Given the description of an element on the screen output the (x, y) to click on. 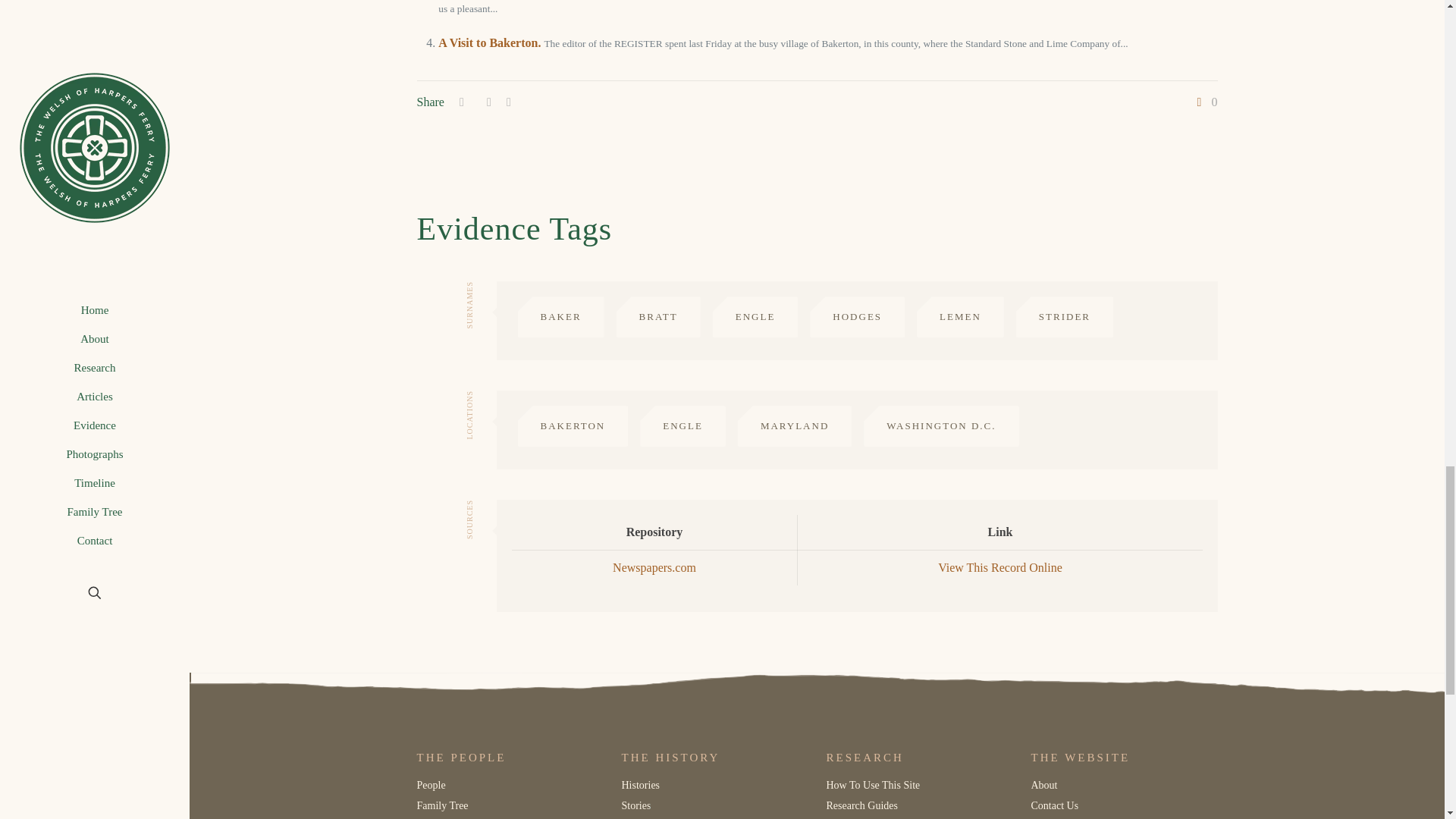
ENGLE (755, 316)
A Visit to Bakerton. (489, 42)
MARYLAND (794, 425)
Newspapers.com (653, 567)
STRIDER (1064, 316)
BAKER (560, 316)
0 (1205, 102)
HODGES (856, 316)
BAKERTON (571, 425)
BRATT (657, 316)
